Given the description of an element on the screen output the (x, y) to click on. 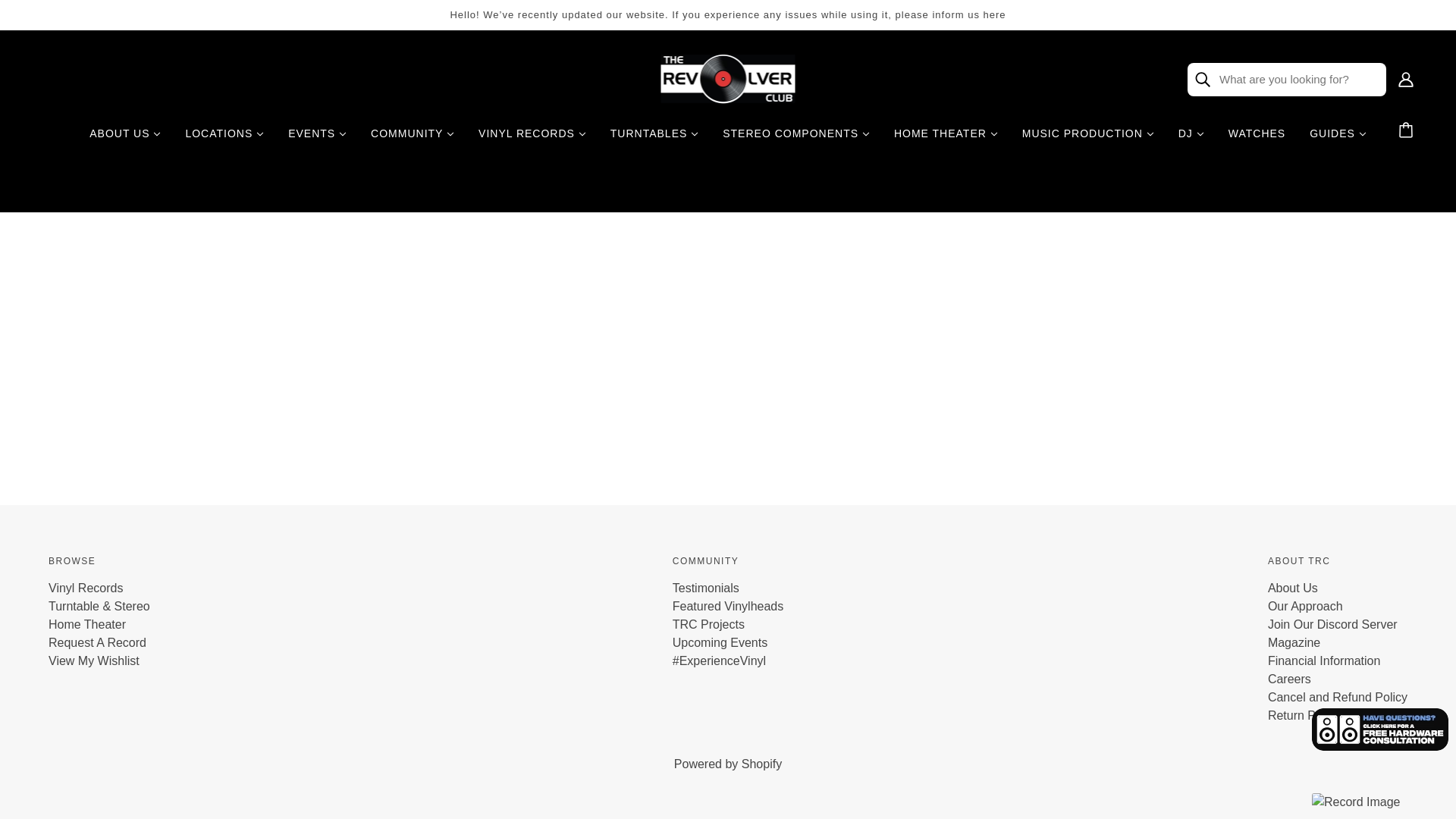
Home Theater (86, 624)
Join Our Discord Server (1332, 624)
Return Policy (1303, 715)
COMMUNITY (411, 139)
Financial Information (1324, 660)
EVENTS (317, 139)
Testimonials (705, 587)
Cancel and Refund Policy (1337, 697)
LOCATIONS (224, 139)
Upcoming Events (719, 642)
